Given the description of an element on the screen output the (x, y) to click on. 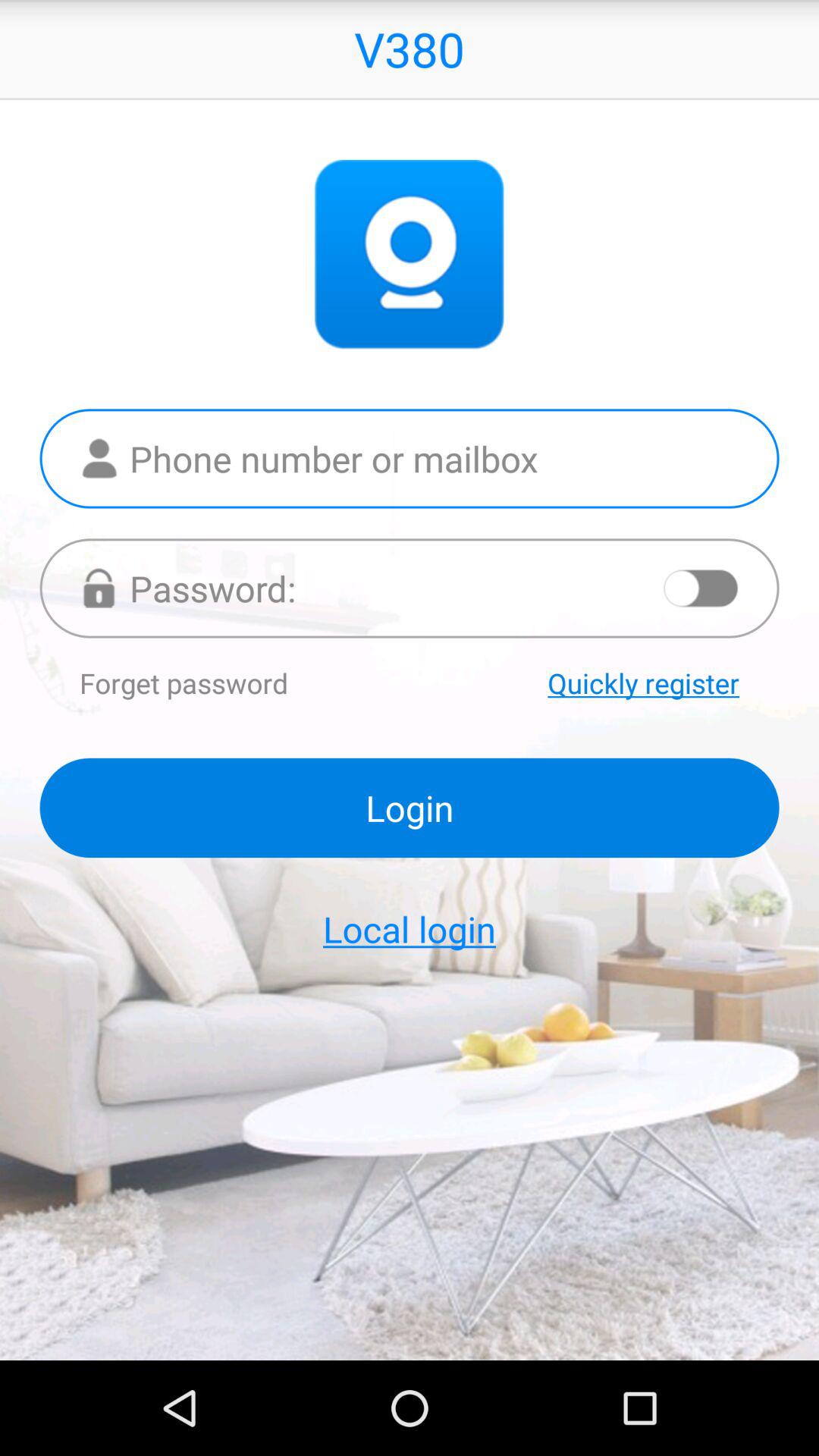
password option (409, 588)
